Given the description of an element on the screen output the (x, y) to click on. 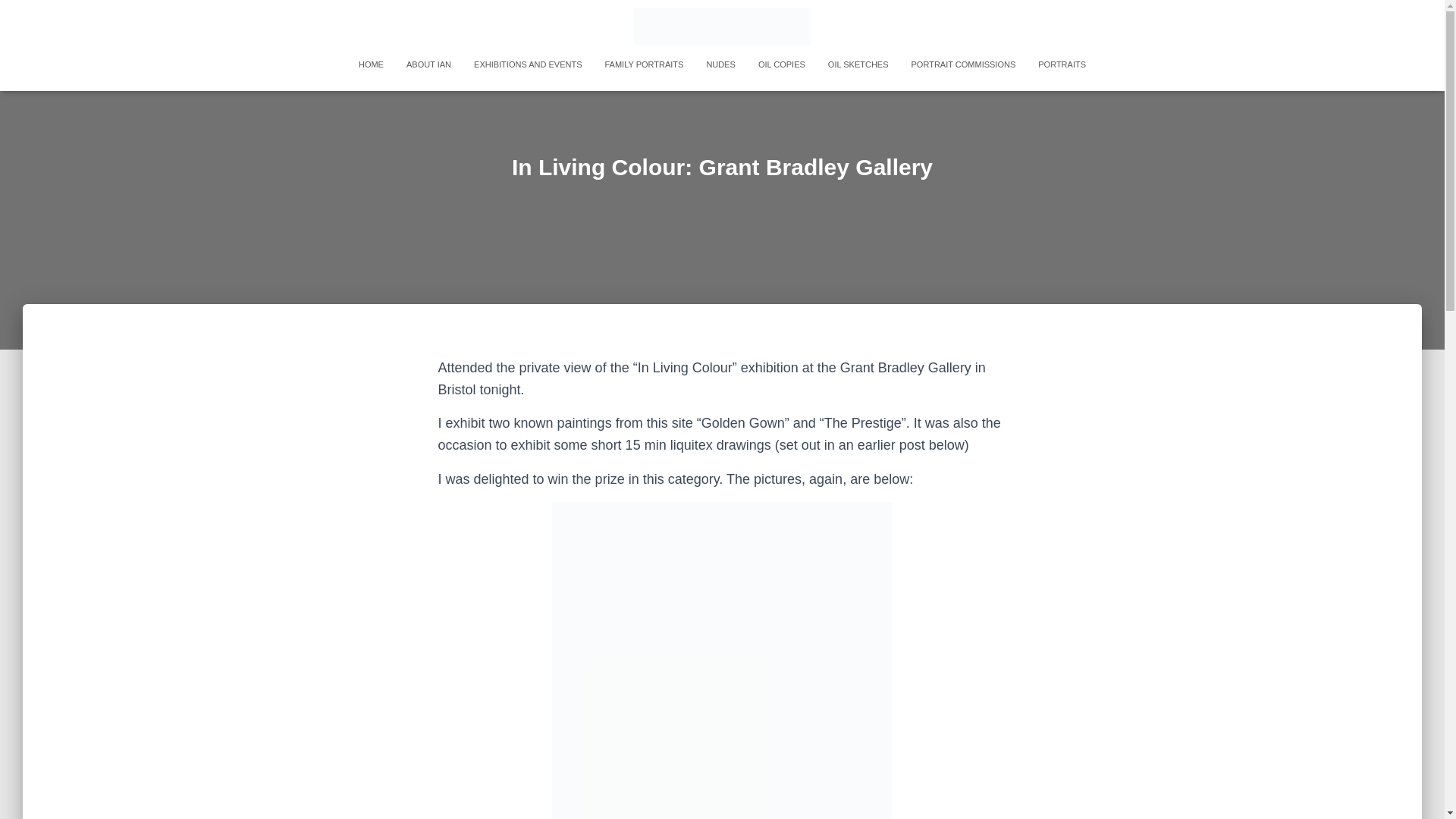
ABOUT IAN (428, 64)
Oil Copies (781, 64)
Family Portraits (643, 64)
Portraits (1061, 64)
PORTRAIT COMMISSIONS (963, 64)
EXHIBITIONS AND EVENTS (527, 64)
HOME (370, 64)
Nudes (720, 64)
Exhibitions and Events (527, 64)
Ian Williamson : Artworks (722, 26)
